Given the description of an element on the screen output the (x, y) to click on. 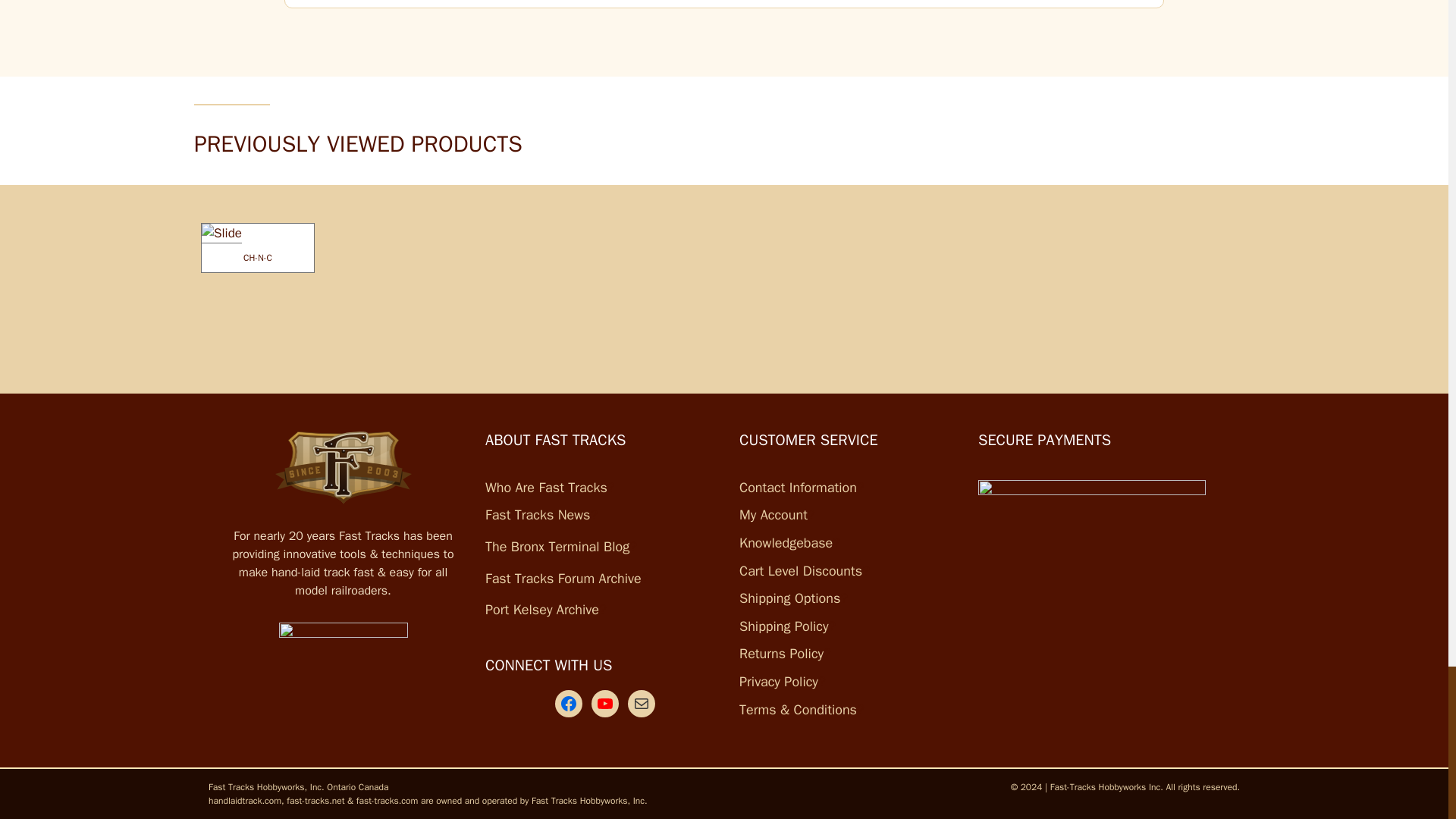
FT Logo 2022 (342, 467)
View Fast Tracks NMRA Warrant (343, 669)
secure payments2 (1091, 493)
